Given the description of an element on the screen output the (x, y) to click on. 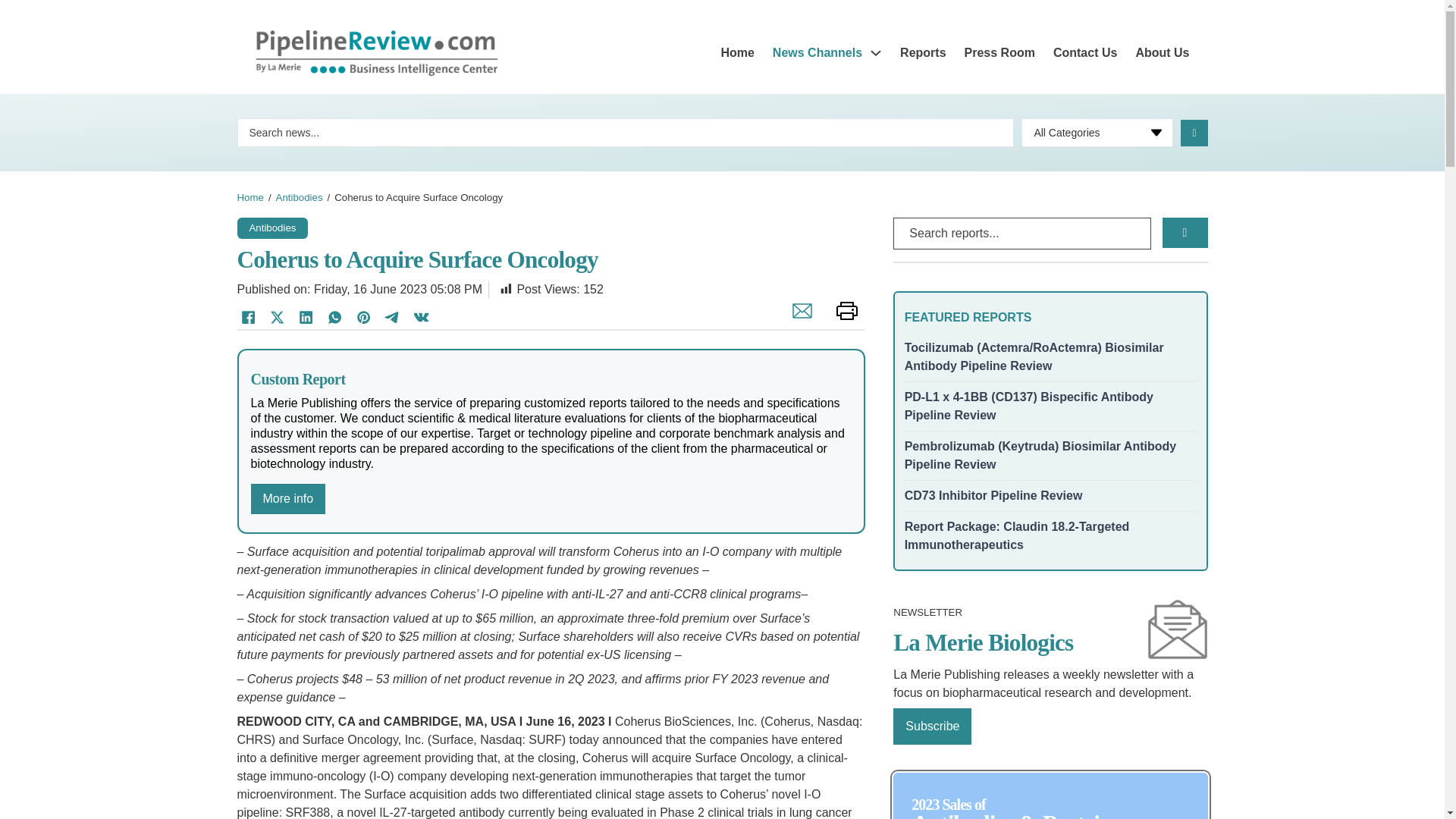
All Categories (1097, 132)
Contact Us (1084, 53)
Home (737, 53)
Share by Email (798, 318)
News Channels (817, 53)
Share by Email (798, 318)
Reports (921, 53)
Home (249, 197)
Press Room (999, 53)
About Us (1162, 53)
Antibodies (271, 226)
Antibodies (299, 197)
